Given the description of an element on the screen output the (x, y) to click on. 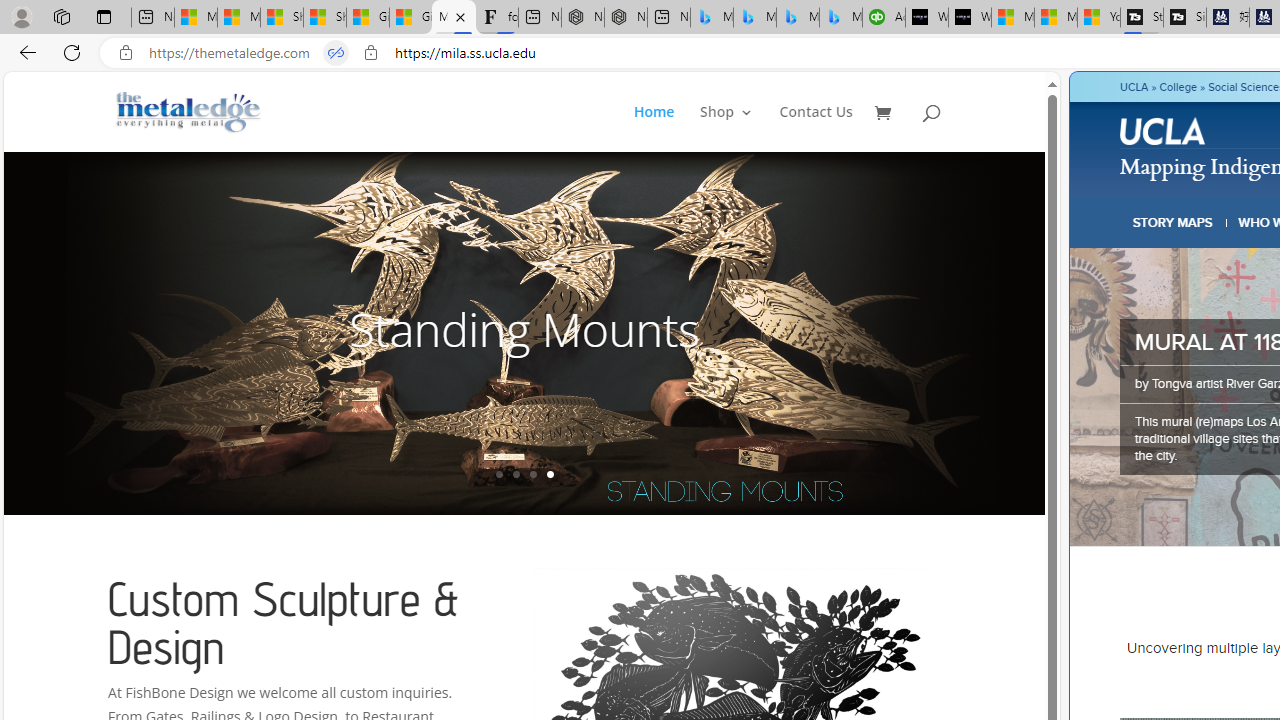
STORY MAPS (1173, 222)
Tabs in split screen (335, 53)
3 (532, 474)
2 (515, 474)
UCLA logo (1164, 134)
Home (653, 128)
Microsoft Start Sports (1013, 17)
Metal Fish Sculptures & Metal Designs (189, 111)
What's the best AI voice generator? - voice.ai (969, 17)
STORY MAPS (1173, 222)
4 (550, 474)
